Given the description of an element on the screen output the (x, y) to click on. 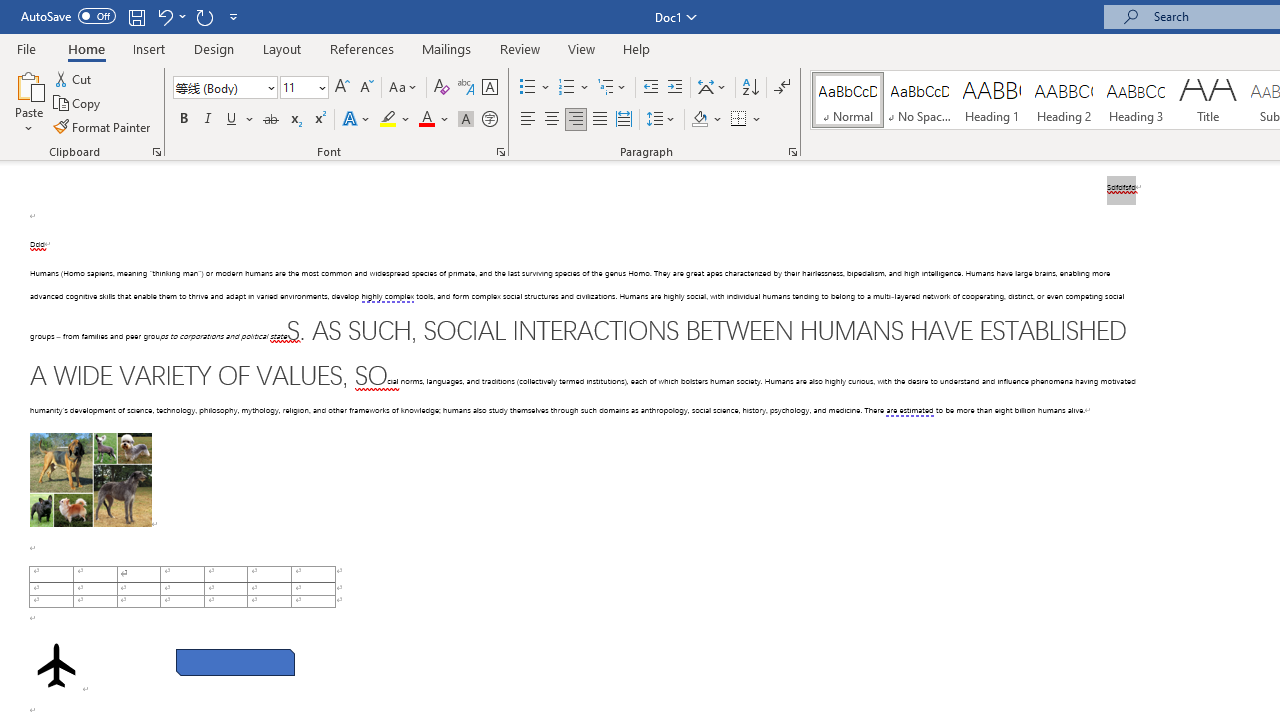
Undo Paragraph Alignment (164, 15)
